Given the description of an element on the screen output the (x, y) to click on. 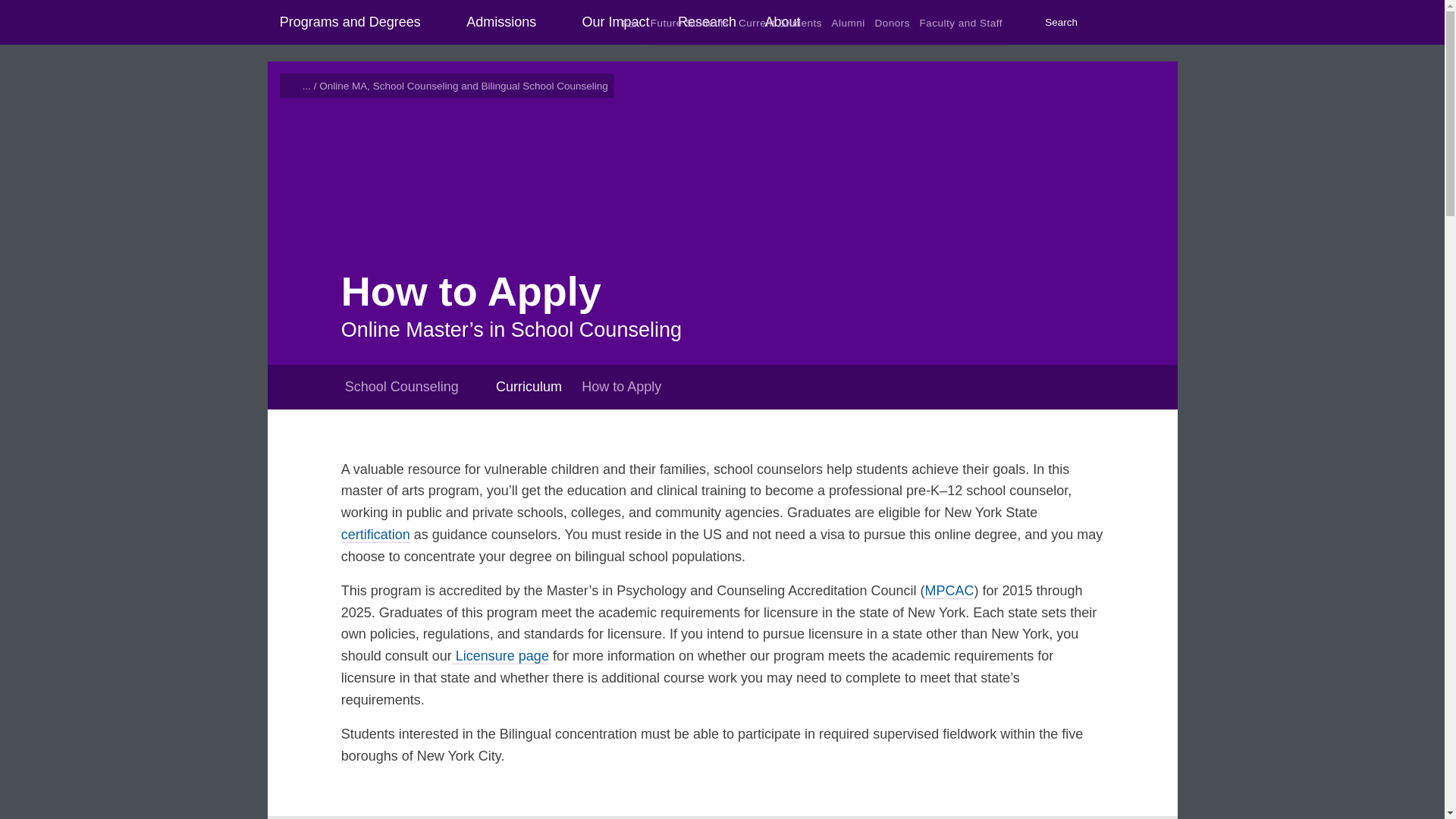
Current Students (781, 22)
about (810, 26)
Alumni (848, 22)
school counseling (471, 387)
programs and degrees (430, 26)
Donors (892, 22)
Skip to main content (5, 6)
Future Students (689, 22)
admissions (545, 26)
Faculty and Staff (960, 22)
Search (1051, 22)
Programs and Degrees (349, 22)
